Given the description of an element on the screen output the (x, y) to click on. 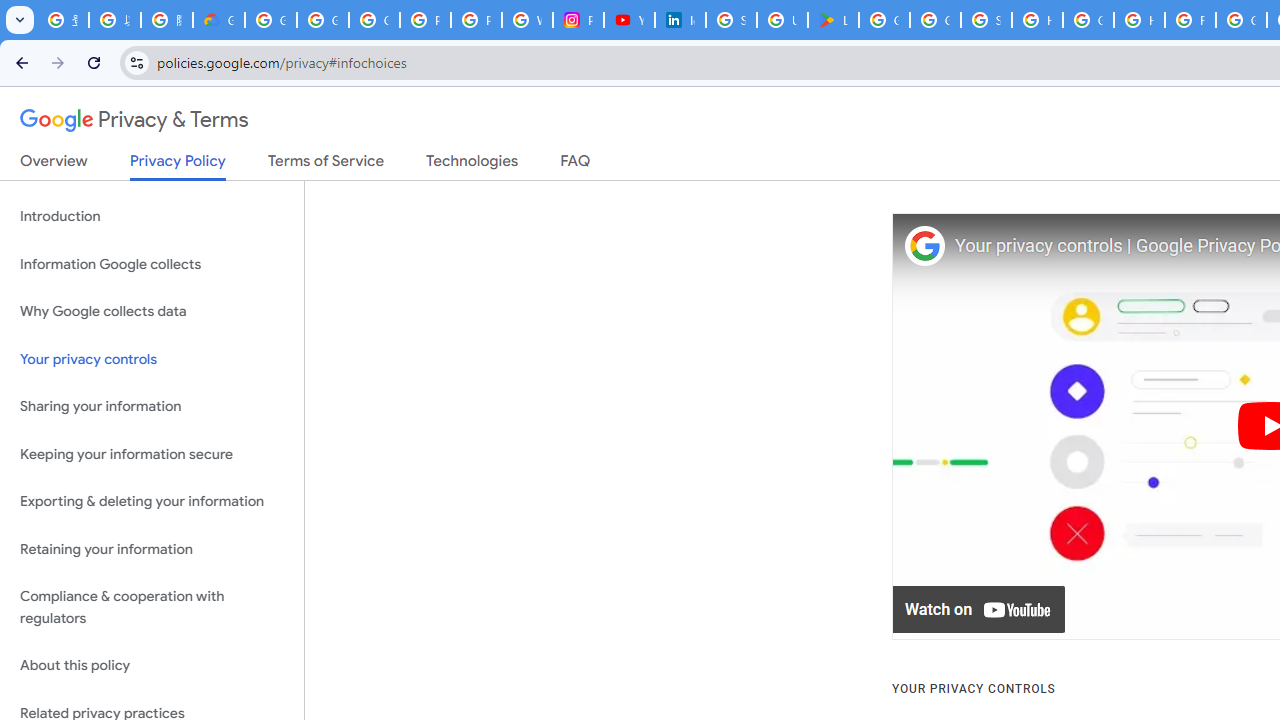
Sign in - Google Accounts (731, 20)
YouTube Culture & Trends - On The Rise: Handcam Videos (629, 20)
Google Workspace - Specific Terms (935, 20)
Information Google collects (152, 263)
Compliance & cooperation with regulators (152, 607)
